Given the description of an element on the screen output the (x, y) to click on. 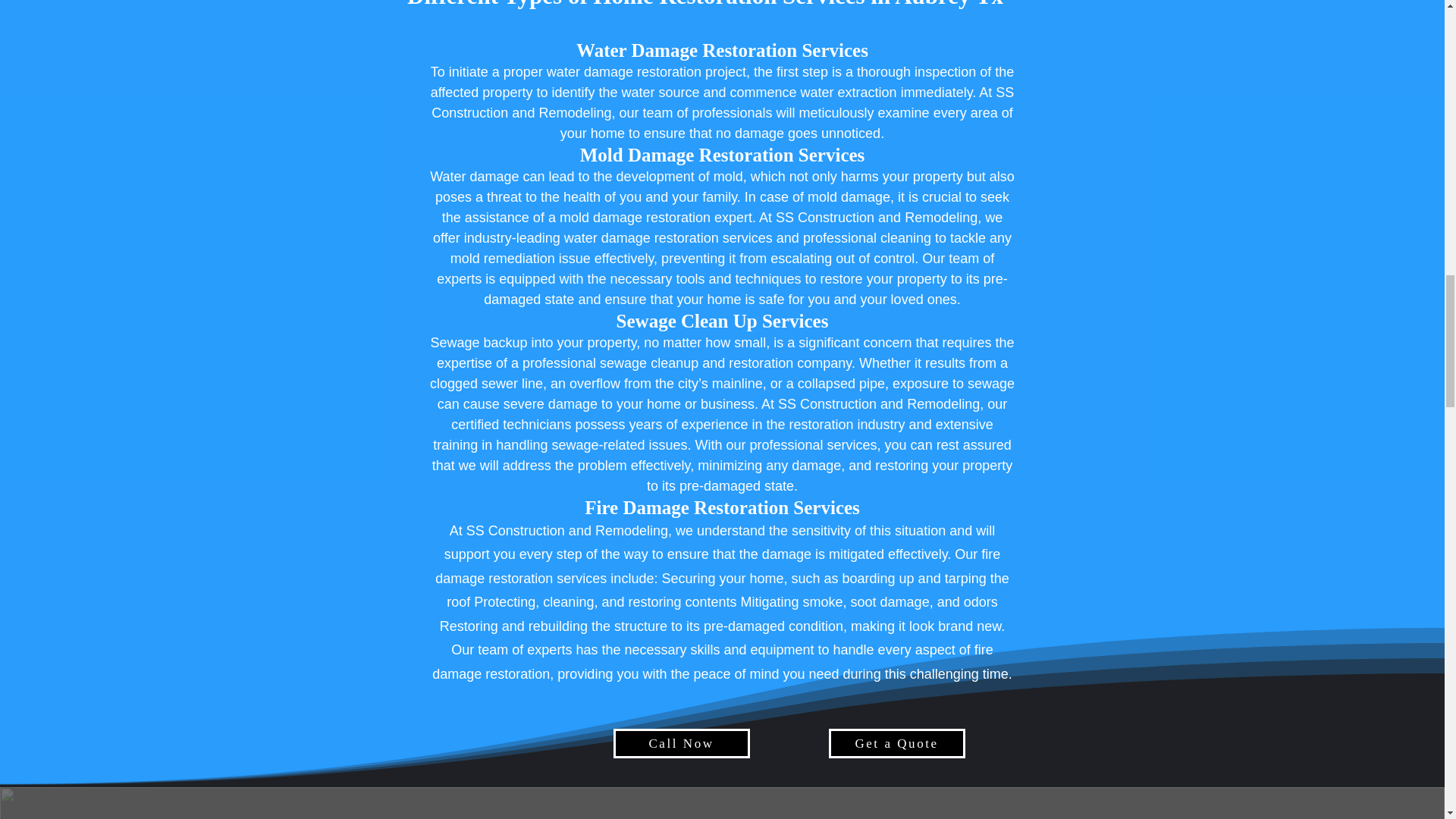
Get a Quote (895, 743)
Call Now (680, 743)
